Given the description of an element on the screen output the (x, y) to click on. 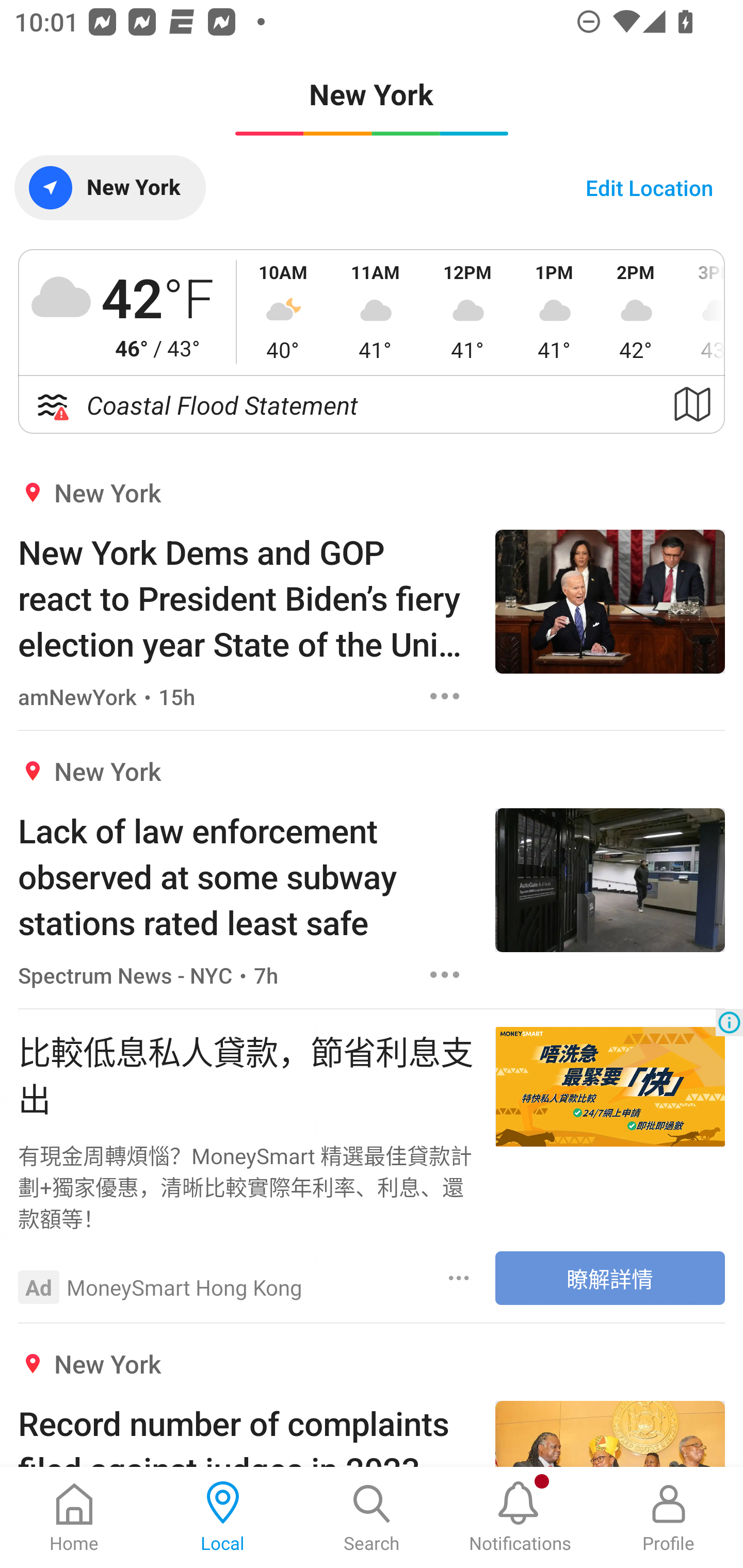
New York (109, 187)
Edit Location (648, 187)
10AM 40° (283, 311)
11AM 41° (375, 311)
12PM 41° (467, 311)
1PM 41° (554, 311)
2PM 42° (635, 311)
Coastal Flood Statement (371, 405)
Options (444, 696)
Options (444, 975)
Ad Choices Icon (729, 1022)
比較低息私人貸款，節省利息支出 (247, 1074)
瞭解詳情 (610, 1277)
Options (459, 1278)
MoneySmart Hong Kong (184, 1287)
Home (74, 1517)
Search (371, 1517)
Notifications, New notification Notifications (519, 1517)
Profile (668, 1517)
